Given the description of an element on the screen output the (x, y) to click on. 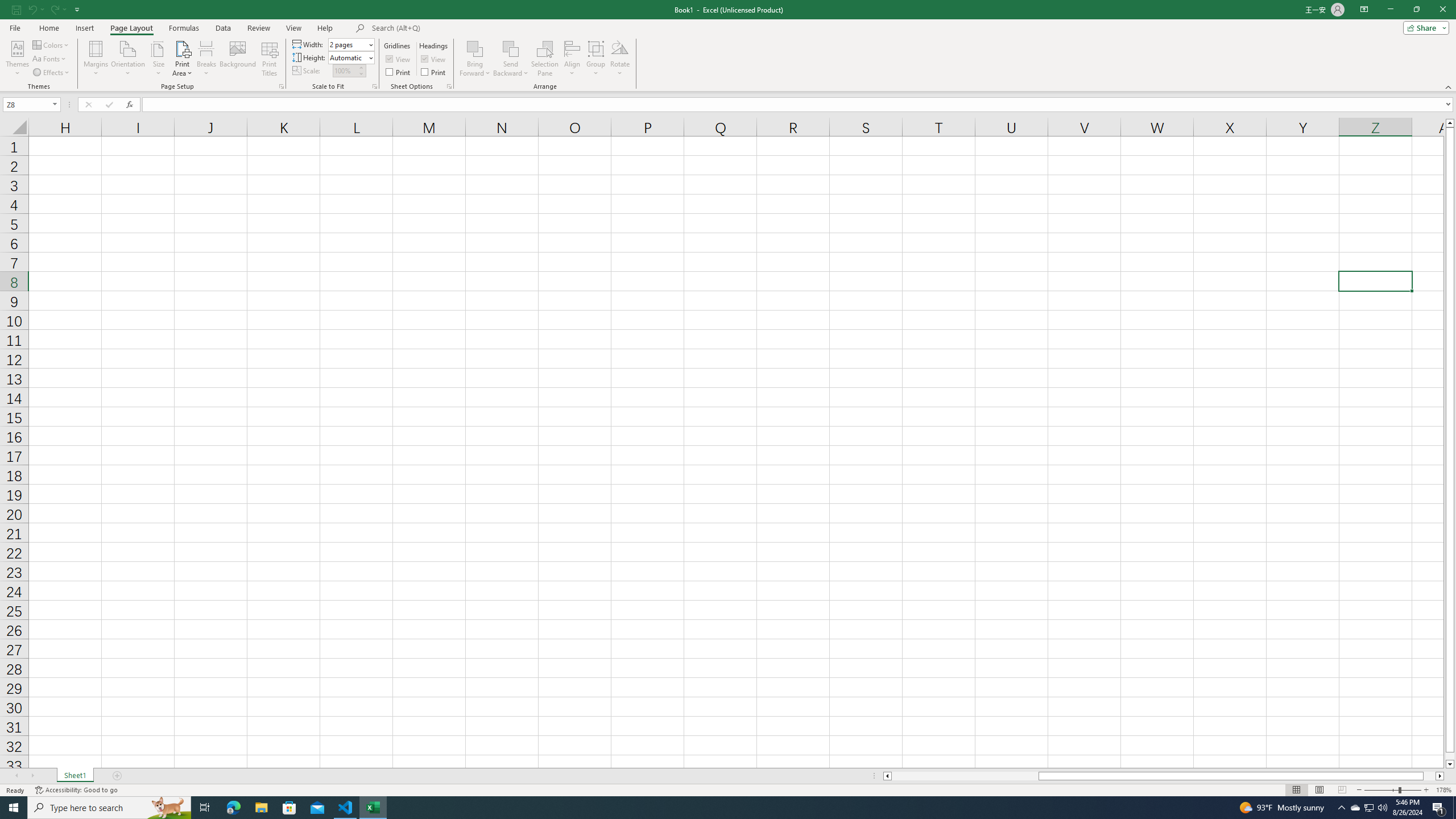
Page Setup (374, 85)
Bring Forward (475, 48)
